Given the description of an element on the screen output the (x, y) to click on. 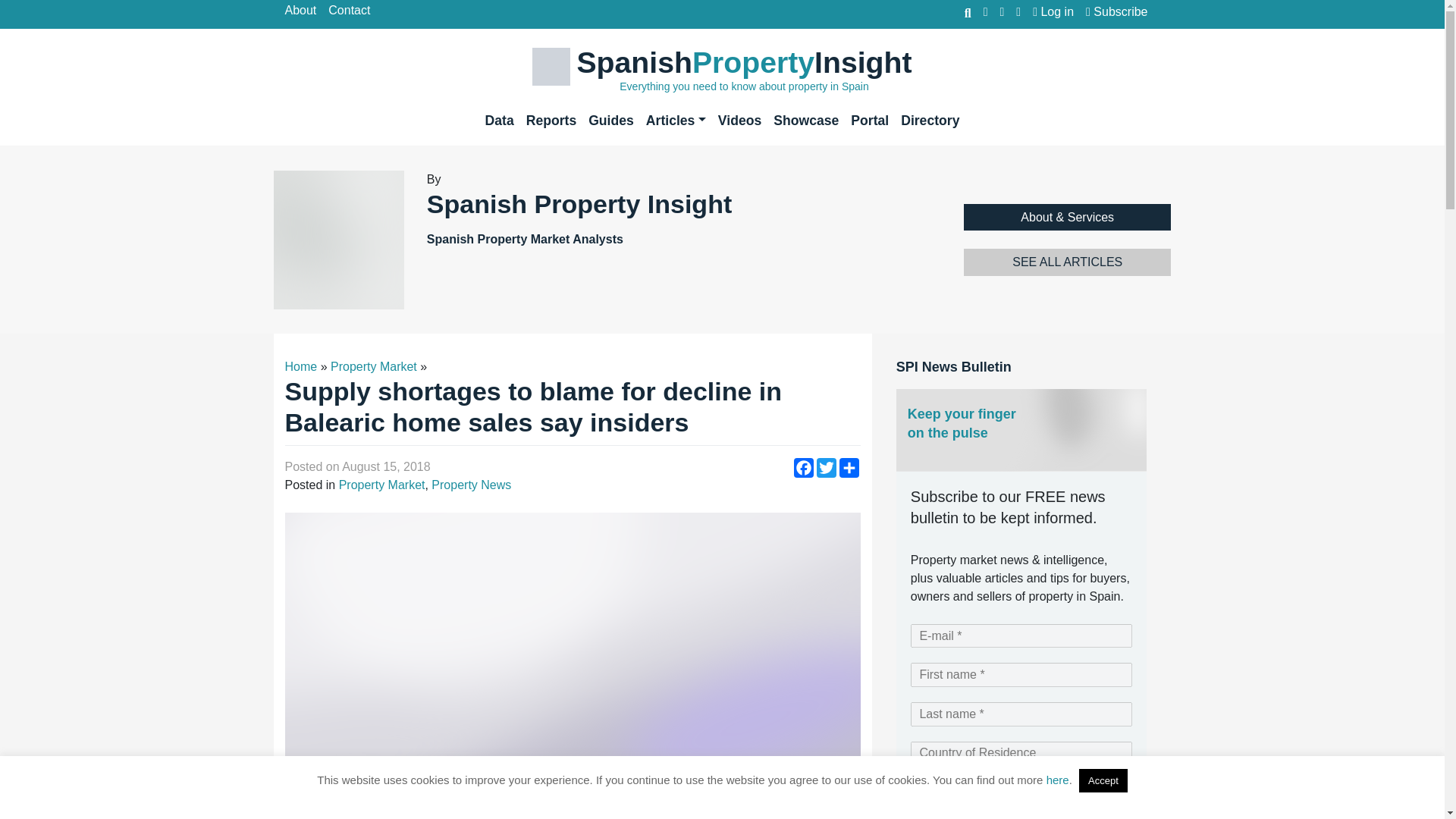
Articles (675, 120)
Directory (930, 120)
Videos (739, 120)
About (307, 10)
Guides (611, 120)
Portal (869, 120)
Data (499, 120)
Guides (611, 120)
Showcase (805, 120)
Contact (355, 10)
About (307, 10)
Reports (550, 120)
SEE ALL ARTICLES (1067, 262)
Reports (550, 120)
Articles (675, 120)
